Given the description of an element on the screen output the (x, y) to click on. 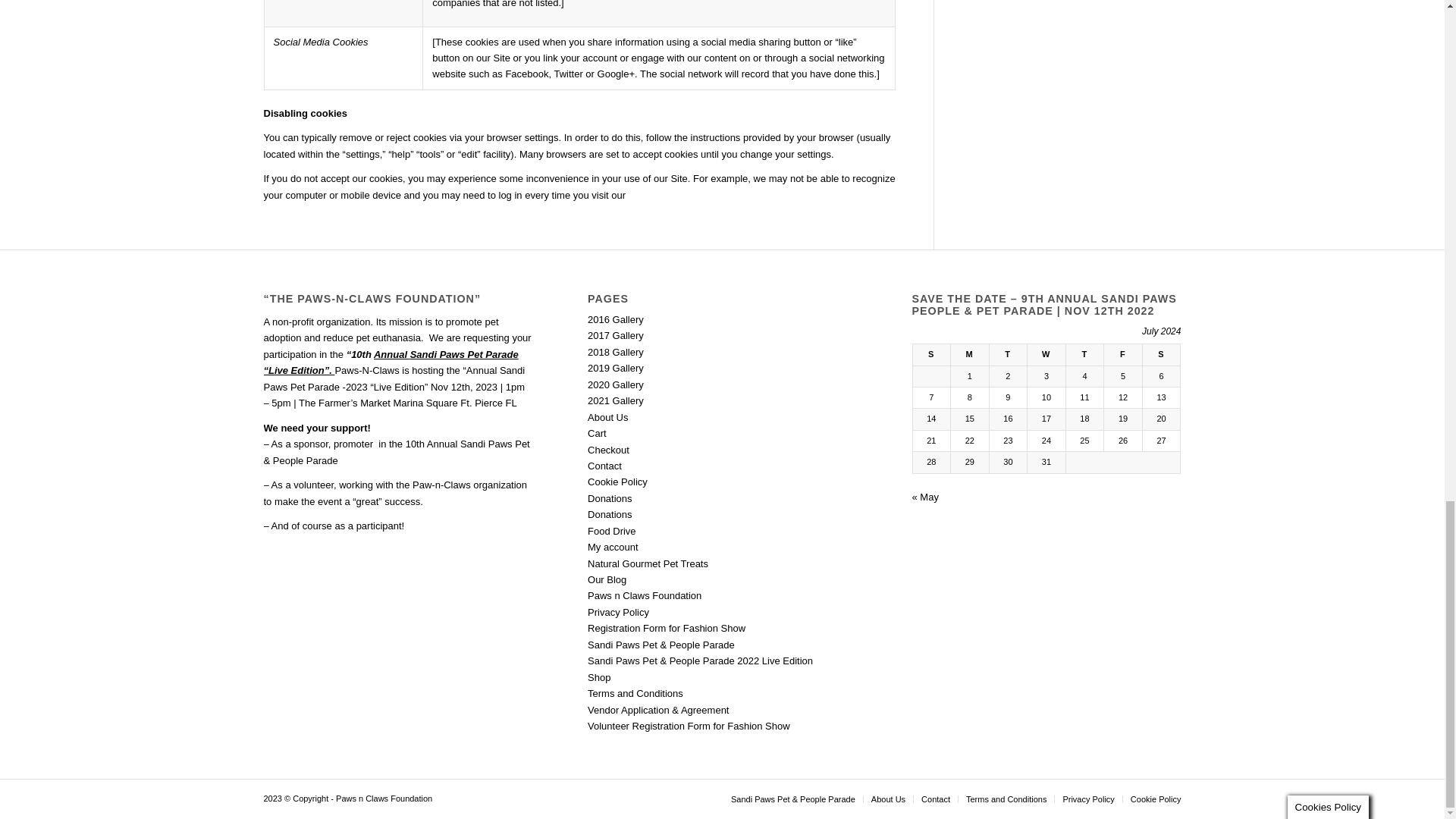
Wednesday (1046, 354)
Friday (1122, 354)
Tuesday (1007, 354)
Sunday (931, 354)
Thursday (1084, 354)
Saturday (1160, 354)
Monday (970, 354)
